Given the description of an element on the screen output the (x, y) to click on. 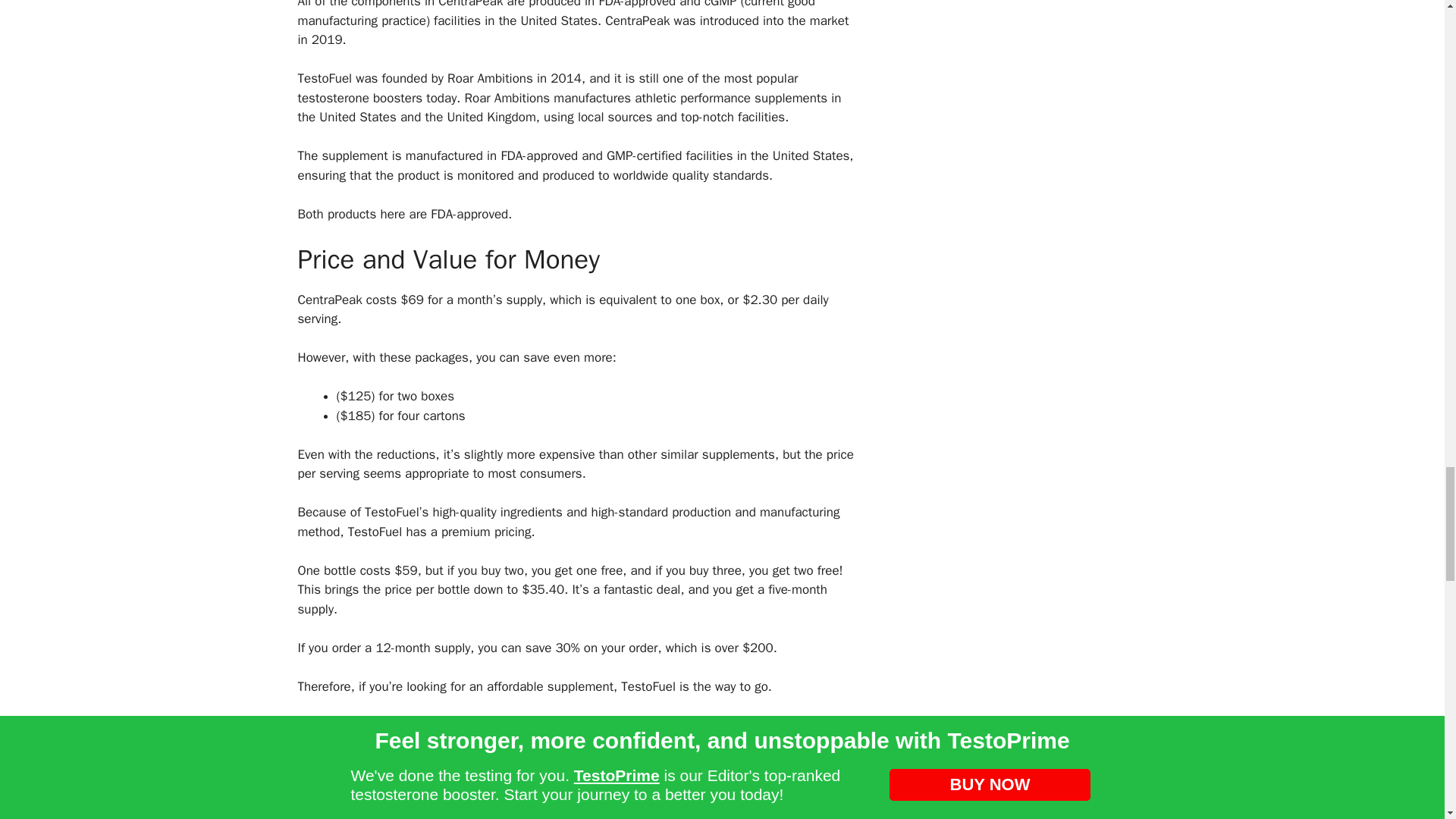
Read our CentraPeak vs Prime Male comparison (433, 725)
